Given the description of an element on the screen output the (x, y) to click on. 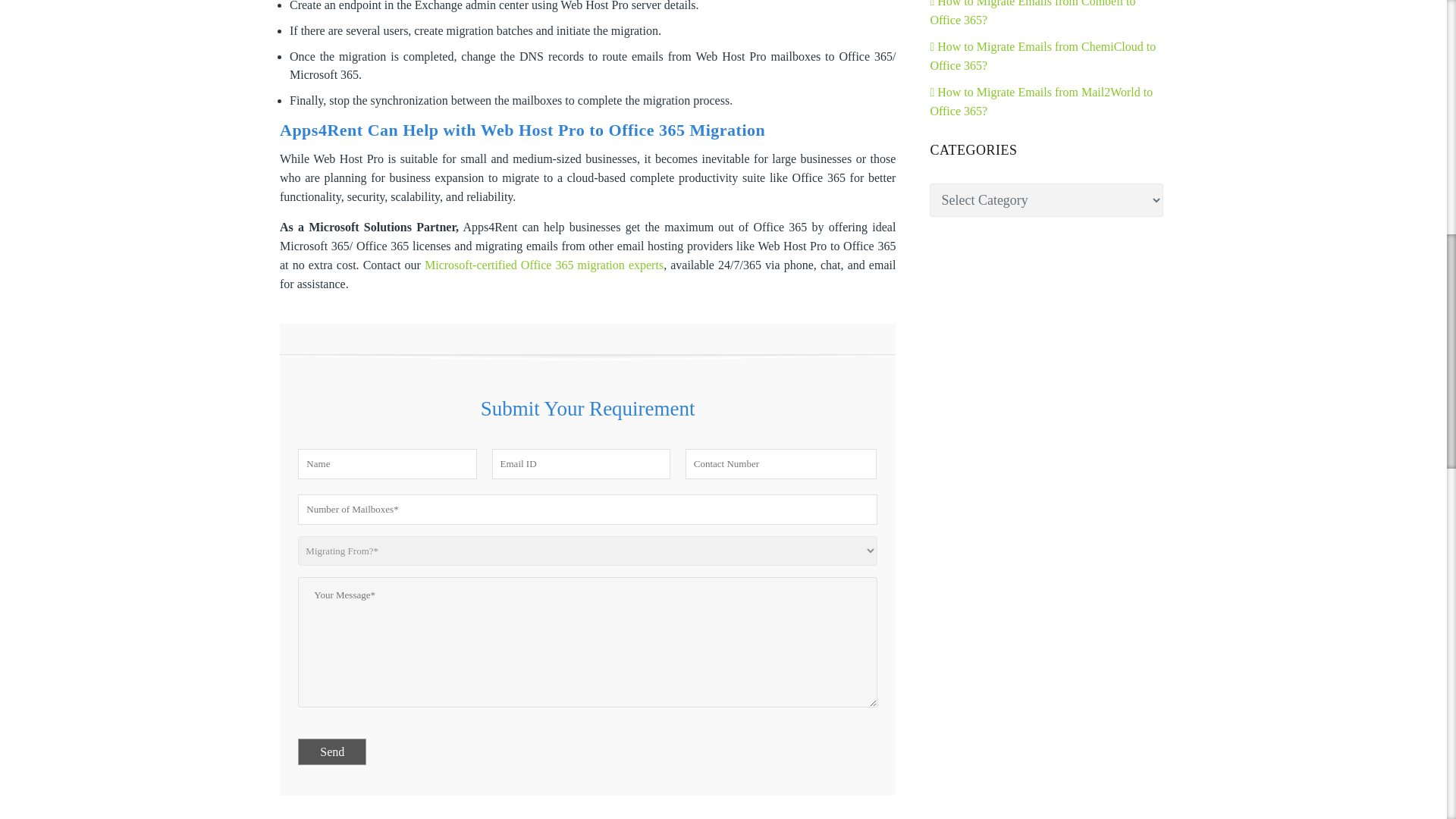
Send (332, 751)
